Given the description of an element on the screen output the (x, y) to click on. 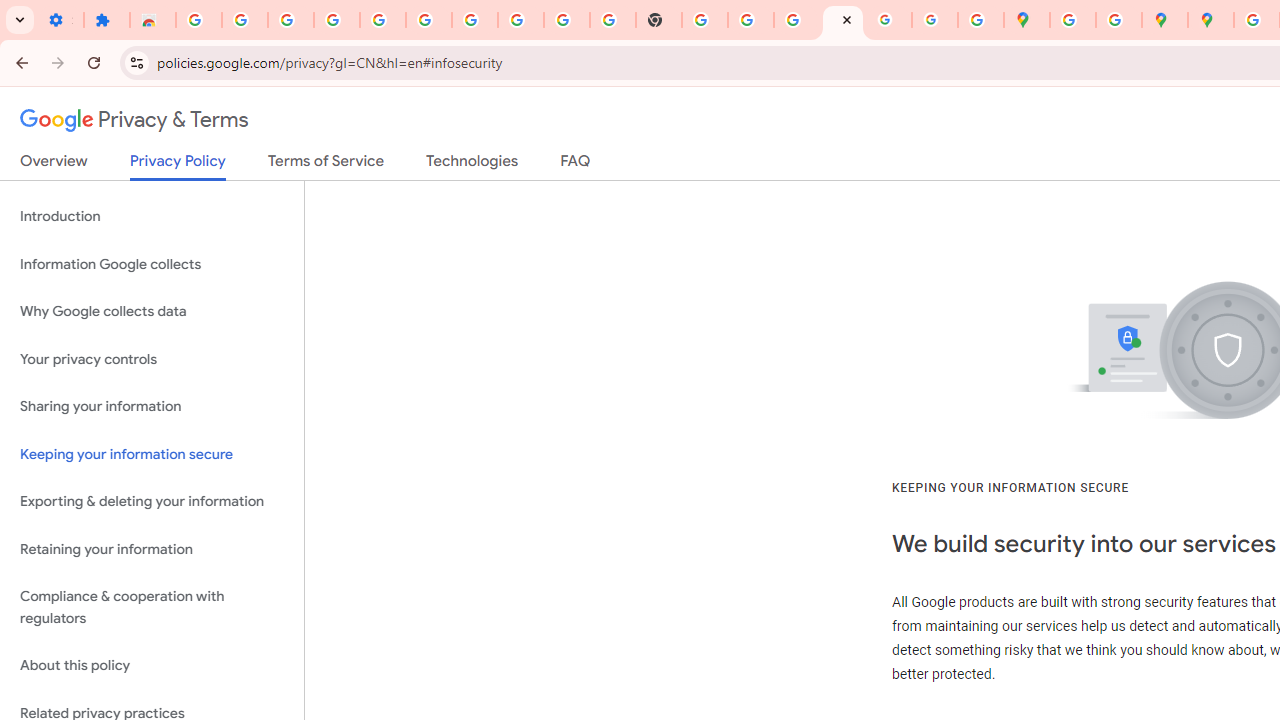
Safety in Our Products - Google Safety Center (1118, 20)
Sign in - Google Accounts (428, 20)
